Given the description of an element on the screen output the (x, y) to click on. 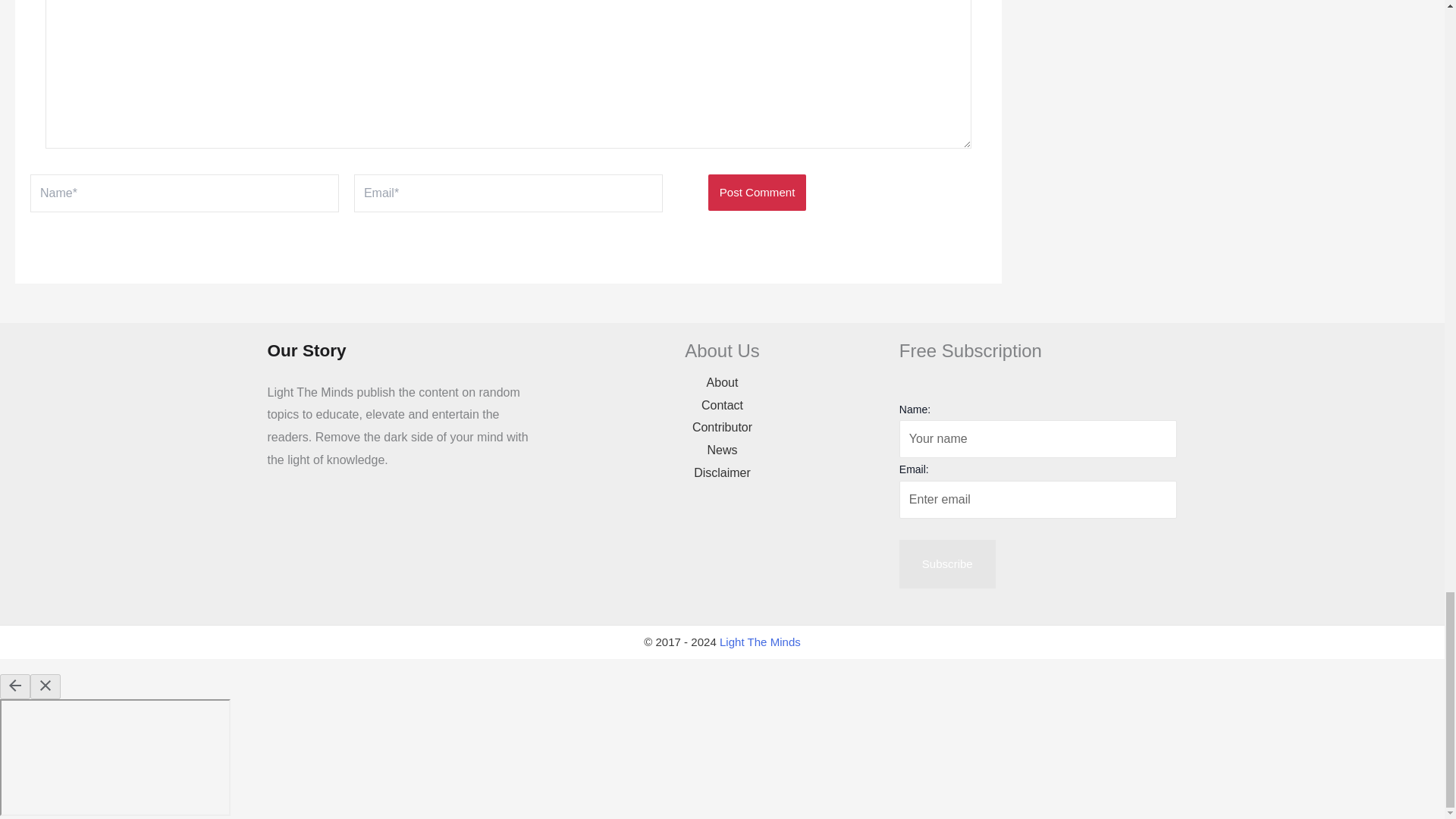
Your name (1038, 438)
Enter email (1038, 499)
Subscribe (947, 563)
Post Comment (756, 192)
